Given the description of an element on the screen output the (x, y) to click on. 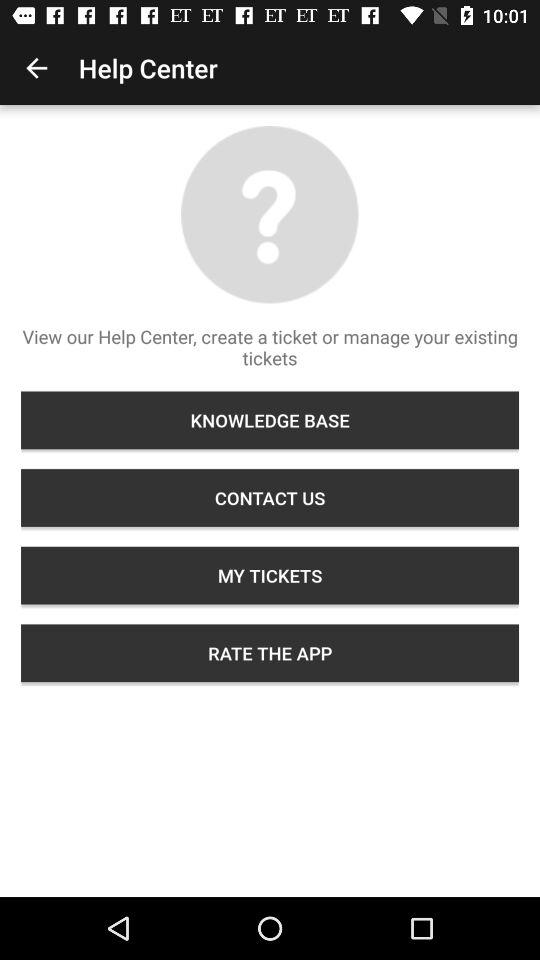
select the icon below my tickets (270, 653)
